Given the description of an element on the screen output the (x, y) to click on. 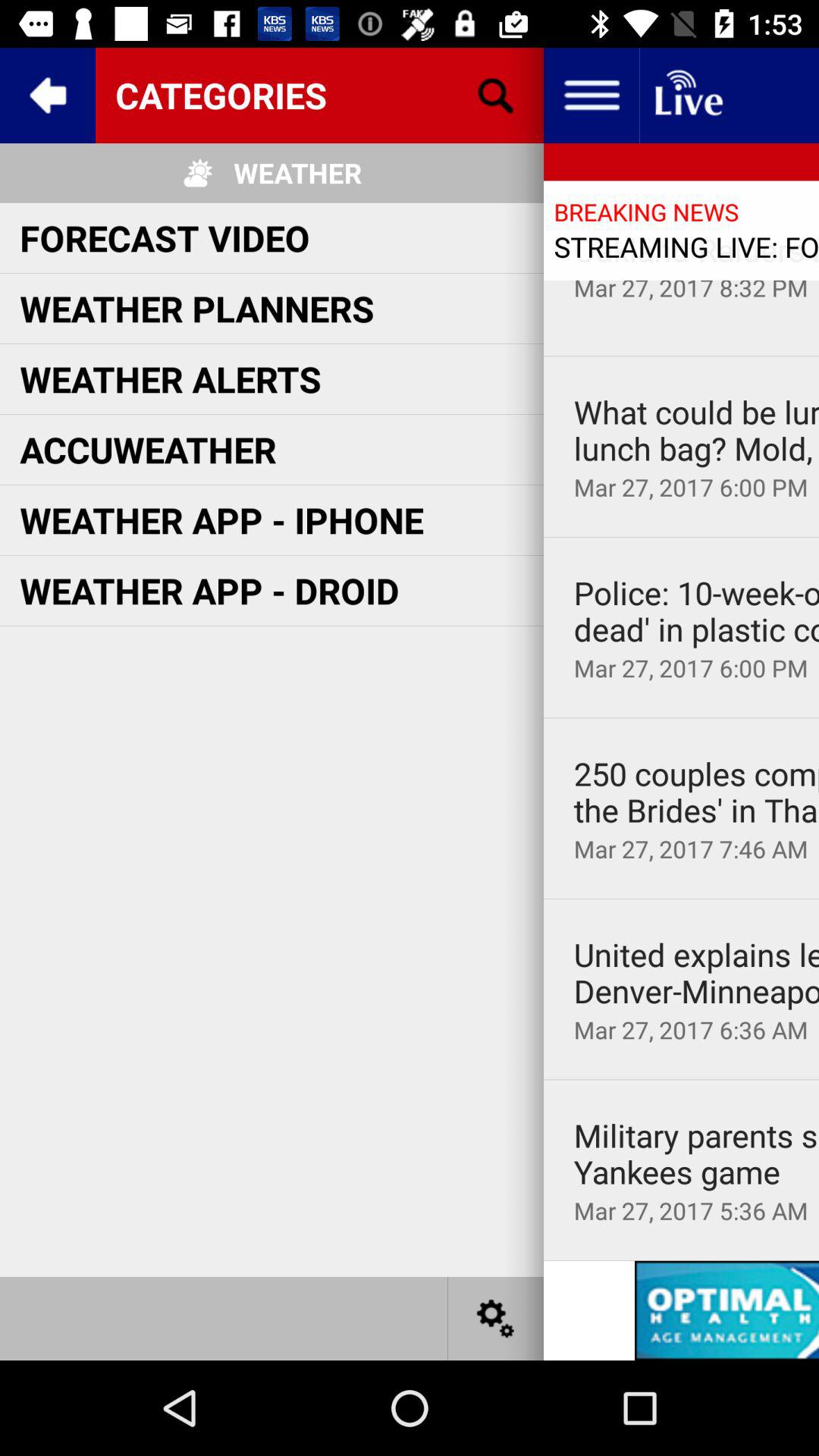
select icon above united explains leggings icon (681, 898)
